Given the description of an element on the screen output the (x, y) to click on. 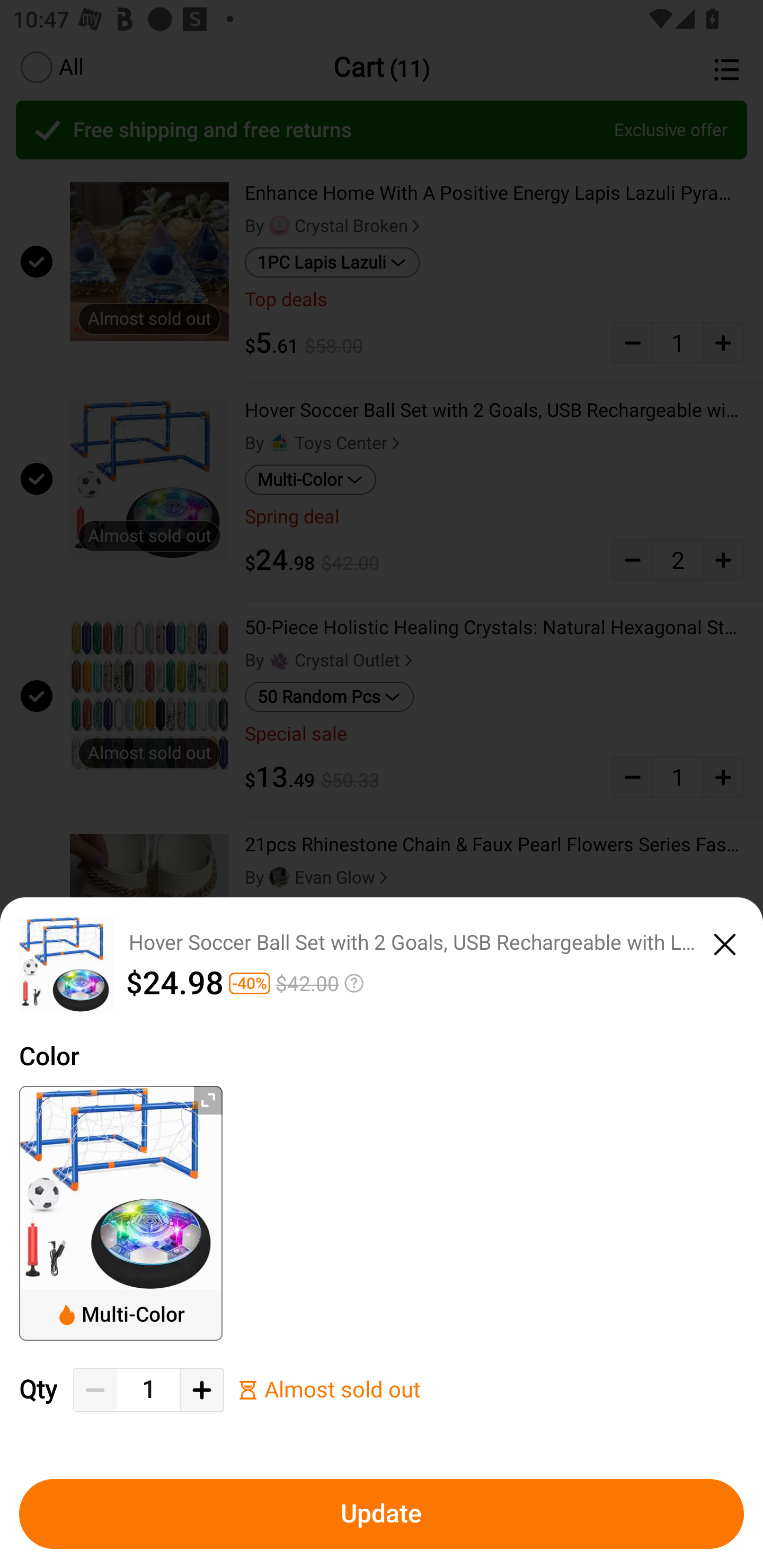
close (724, 941)
Multi-Color ￼Multi-Color (120, 1213)
Decrease Quantity Button (95, 1389)
Add Quantity Button (201, 1389)
1 (148, 1389)
Update (381, 1513)
